Given the description of an element on the screen output the (x, y) to click on. 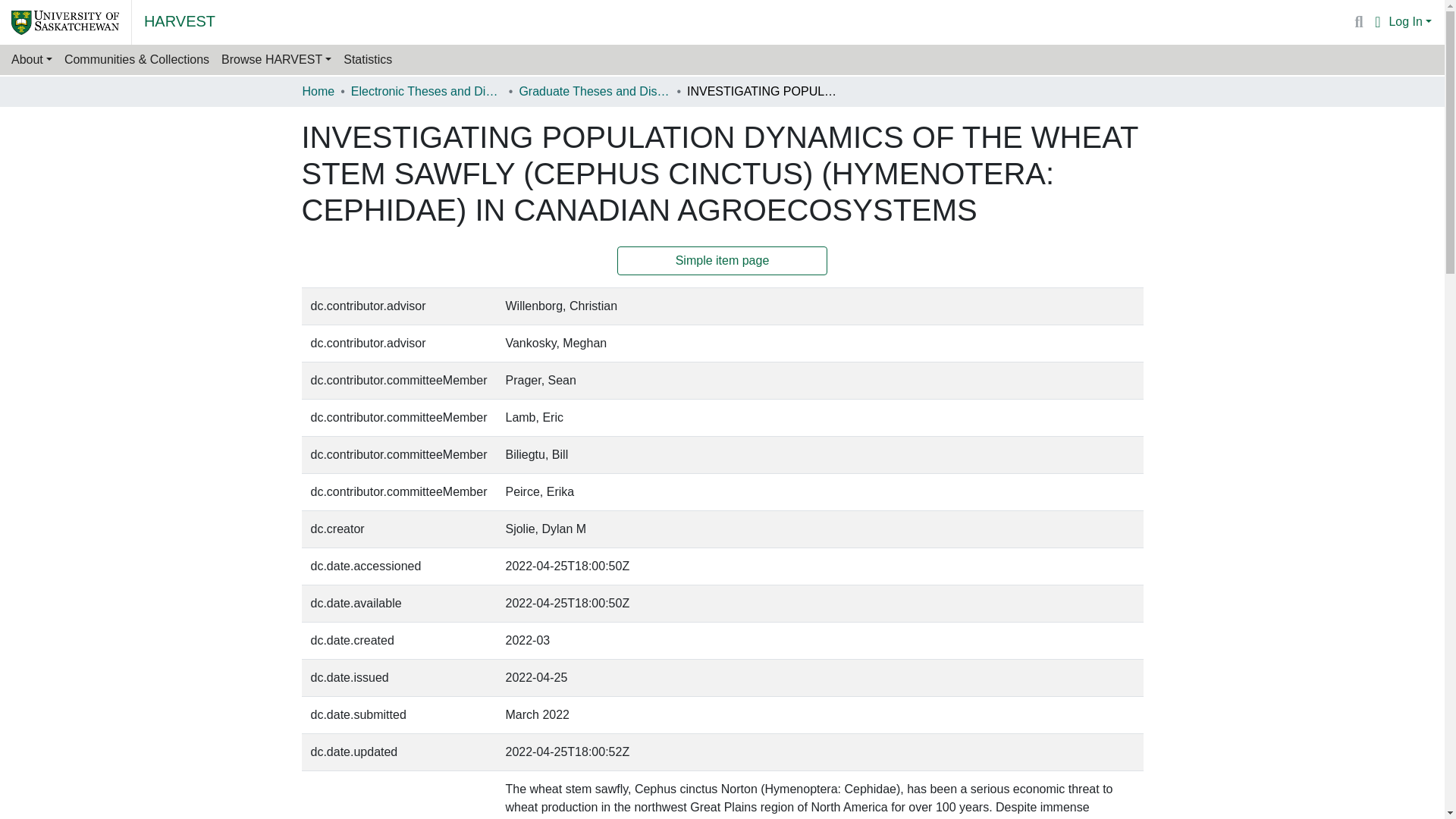
Statistics (367, 60)
Browse HARVEST (276, 60)
Electronic Theses and Dissertations (426, 91)
Simple item page (722, 260)
Statistics (367, 60)
Home (317, 91)
Log In (1409, 21)
About (31, 60)
HARVEST (179, 20)
Search (1358, 22)
